Given the description of an element on the screen output the (x, y) to click on. 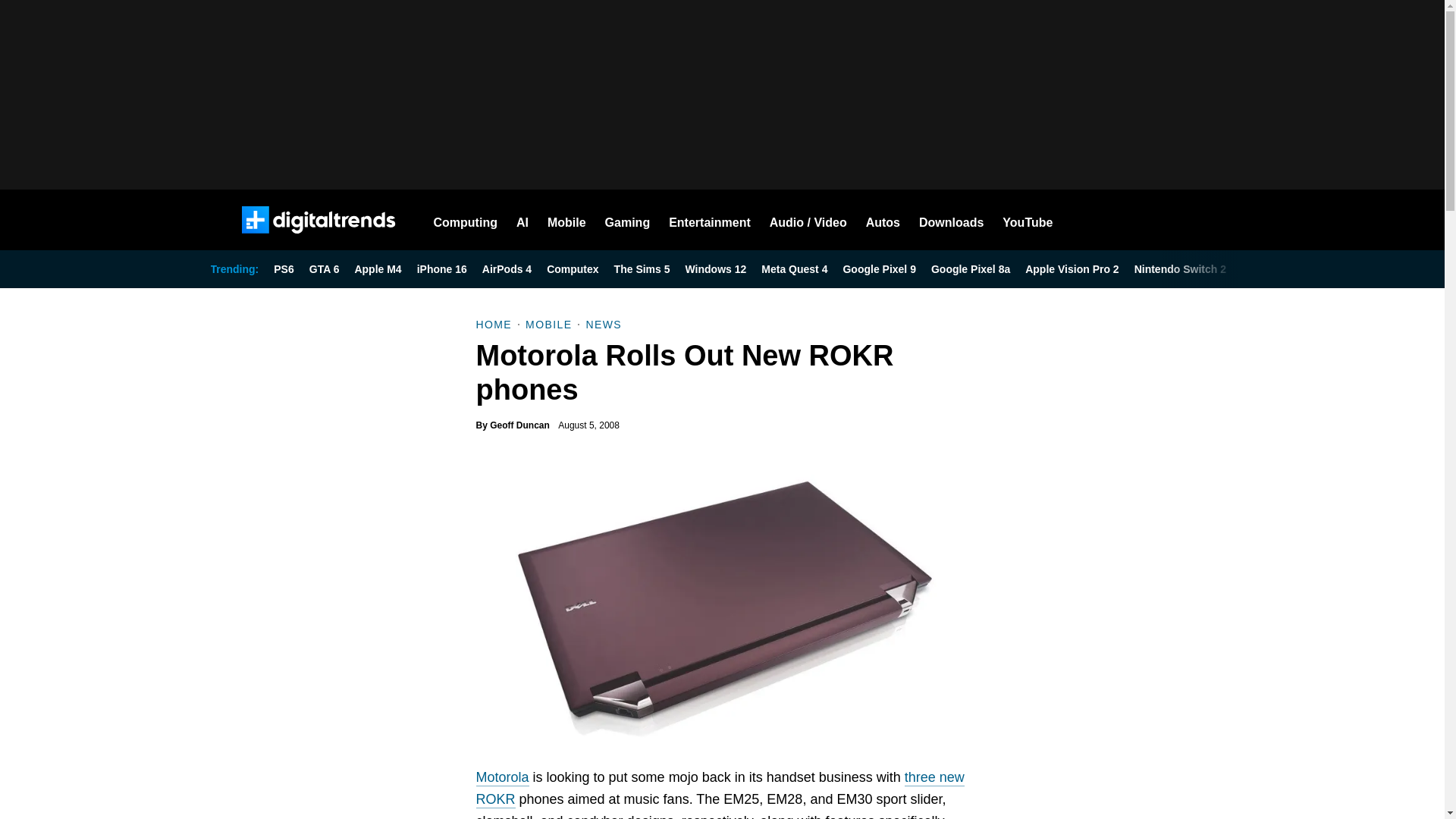
Autos (882, 219)
AI (522, 219)
Downloads (951, 219)
Mobile (566, 219)
Gaming (627, 219)
Computing (465, 219)
YouTube (1027, 219)
Entertainment (709, 219)
